Given the description of an element on the screen output the (x, y) to click on. 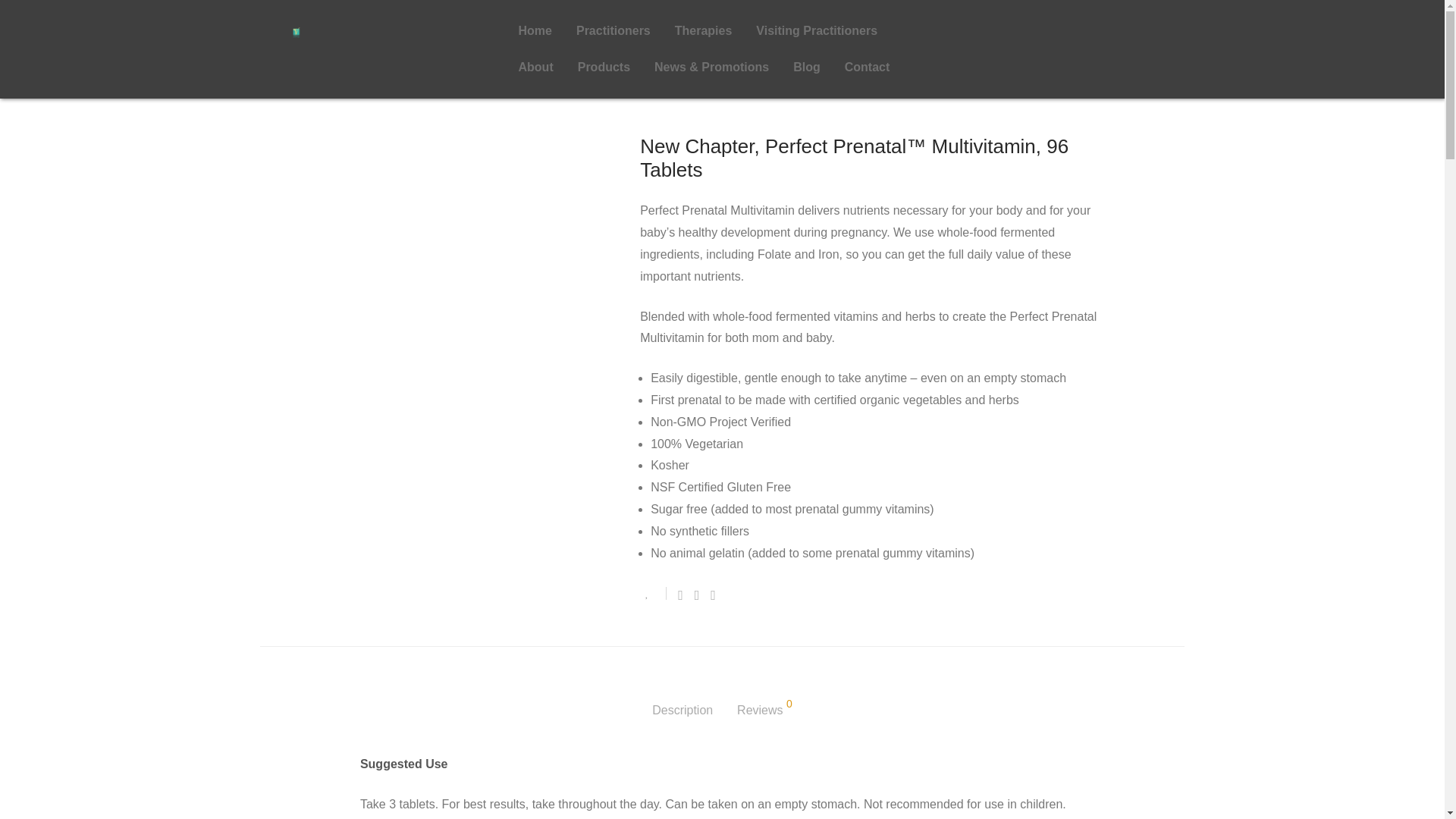
Products (604, 67)
Visiting Practitioners (816, 31)
Home (535, 31)
Therapies (703, 31)
Home (272, 88)
Add to Wishlist (653, 593)
Health Supplements (349, 88)
Practitioners (613, 31)
Contact (867, 67)
Blog (806, 67)
